Given the description of an element on the screen output the (x, y) to click on. 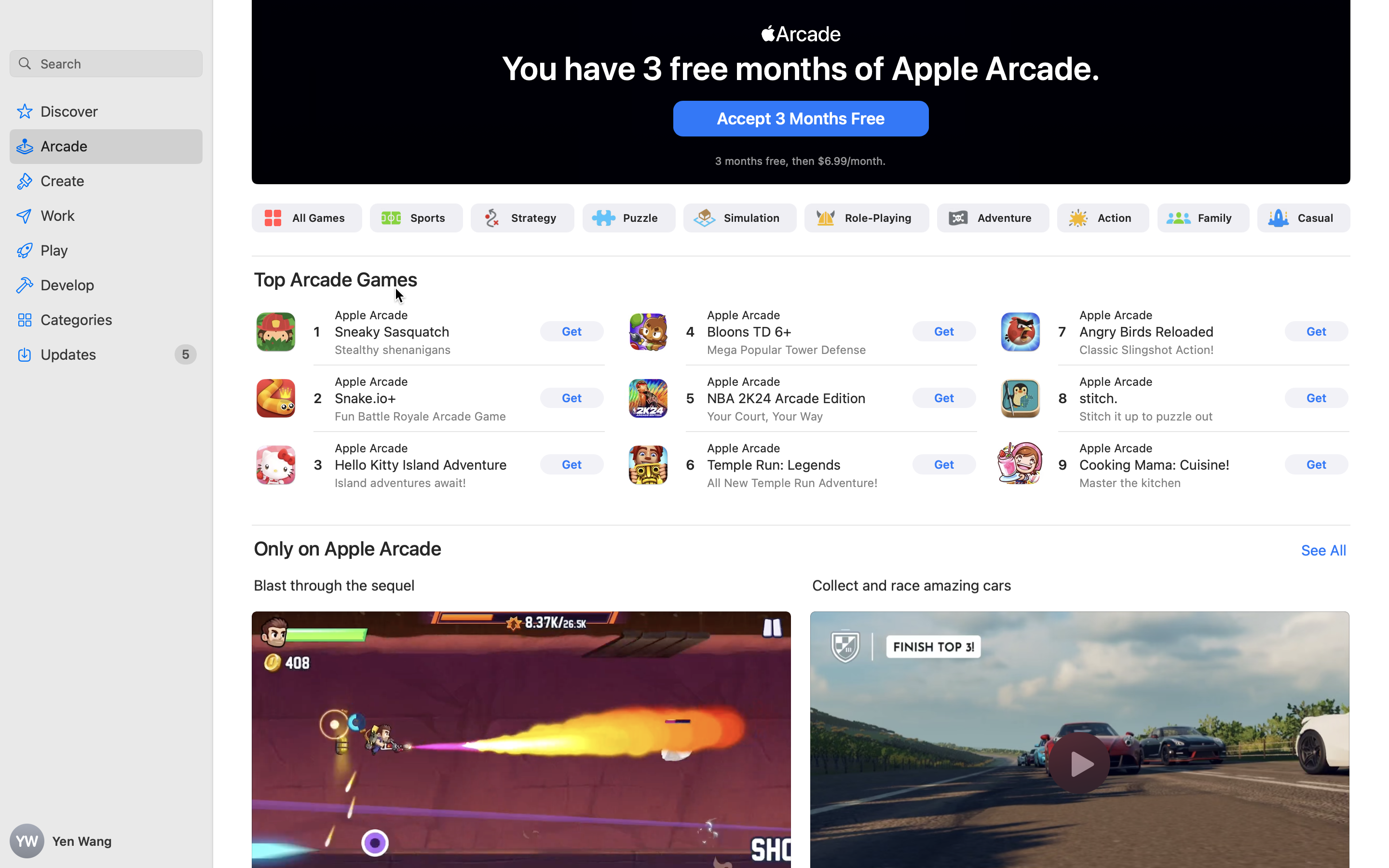
All Games Element type: AXStaticText (318, 217)
Adventure Element type: AXStaticText (1004, 217)
Role-Playing Element type: AXStaticText (878, 217)
